Given the description of an element on the screen output the (x, y) to click on. 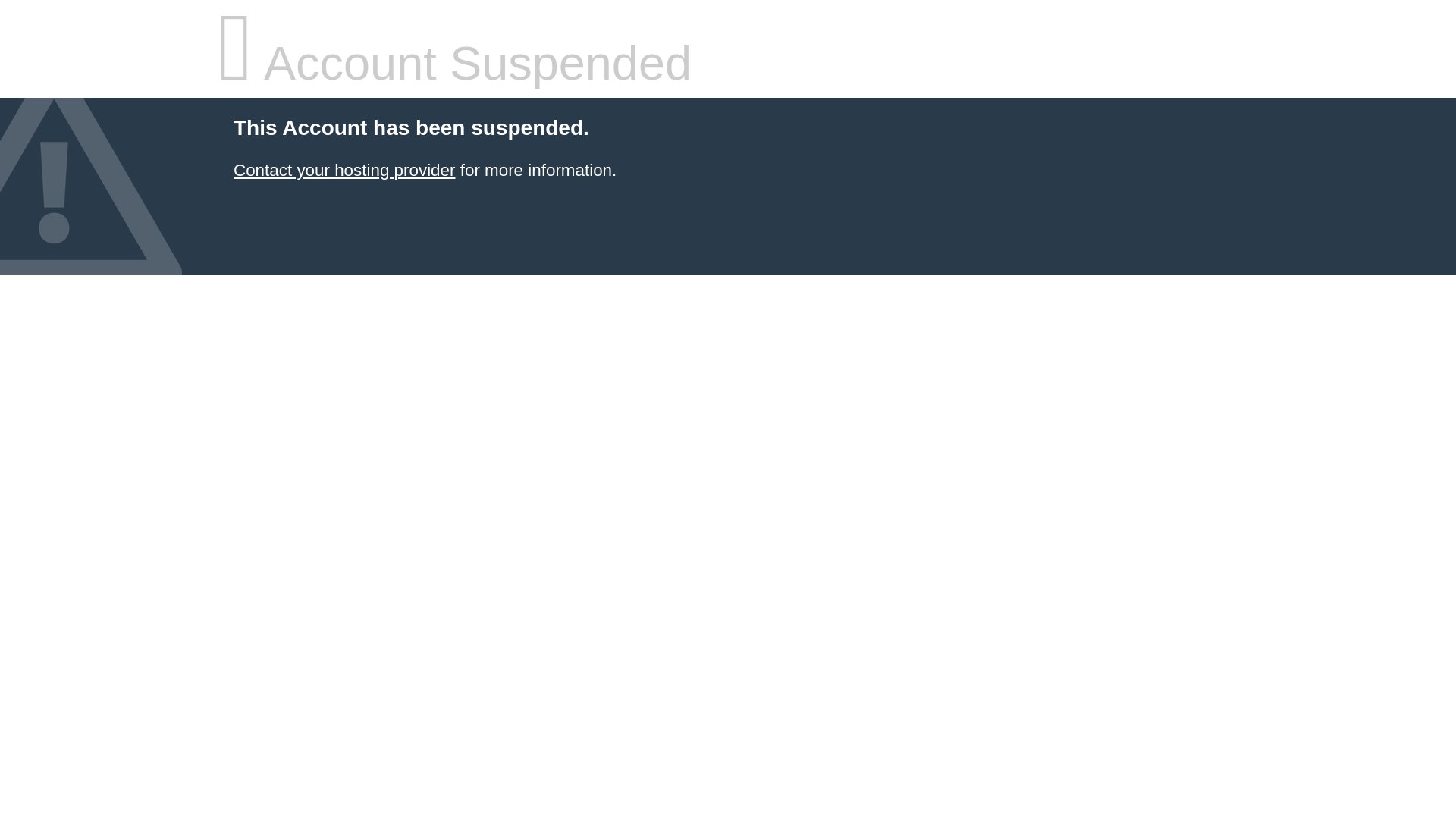
Contact your hosting provider (343, 169)
